Given the description of an element on the screen output the (x, y) to click on. 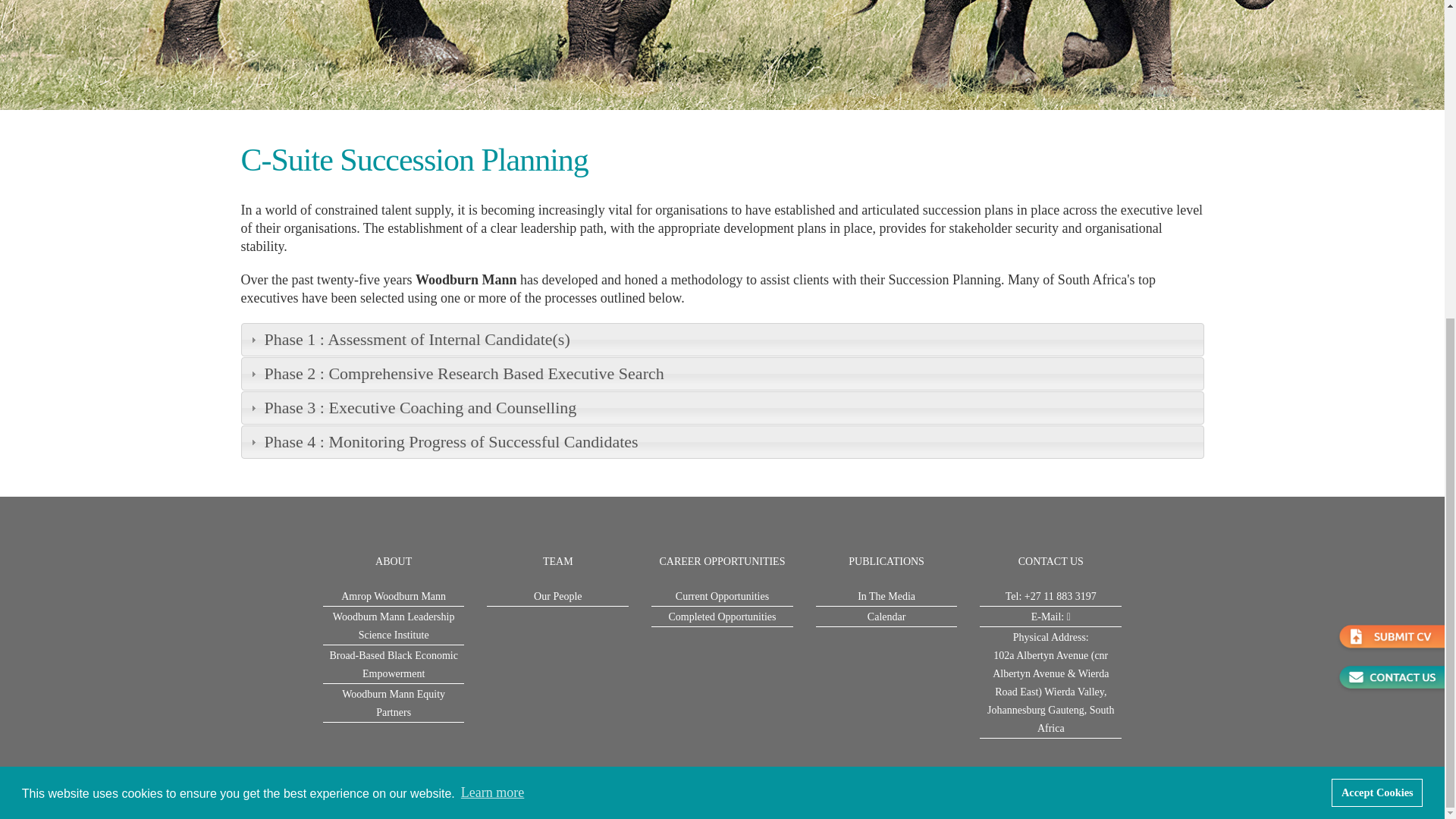
Phase 3 : Executive Coaching and Counselling (721, 408)
Accept Cookies (1377, 277)
Learn more (492, 278)
Phase 2 : Comprehensive Research Based Executive Search (721, 373)
Phase 4 : Monitoring Progress of Successful Candidates (721, 441)
